Given the description of an element on the screen output the (x, y) to click on. 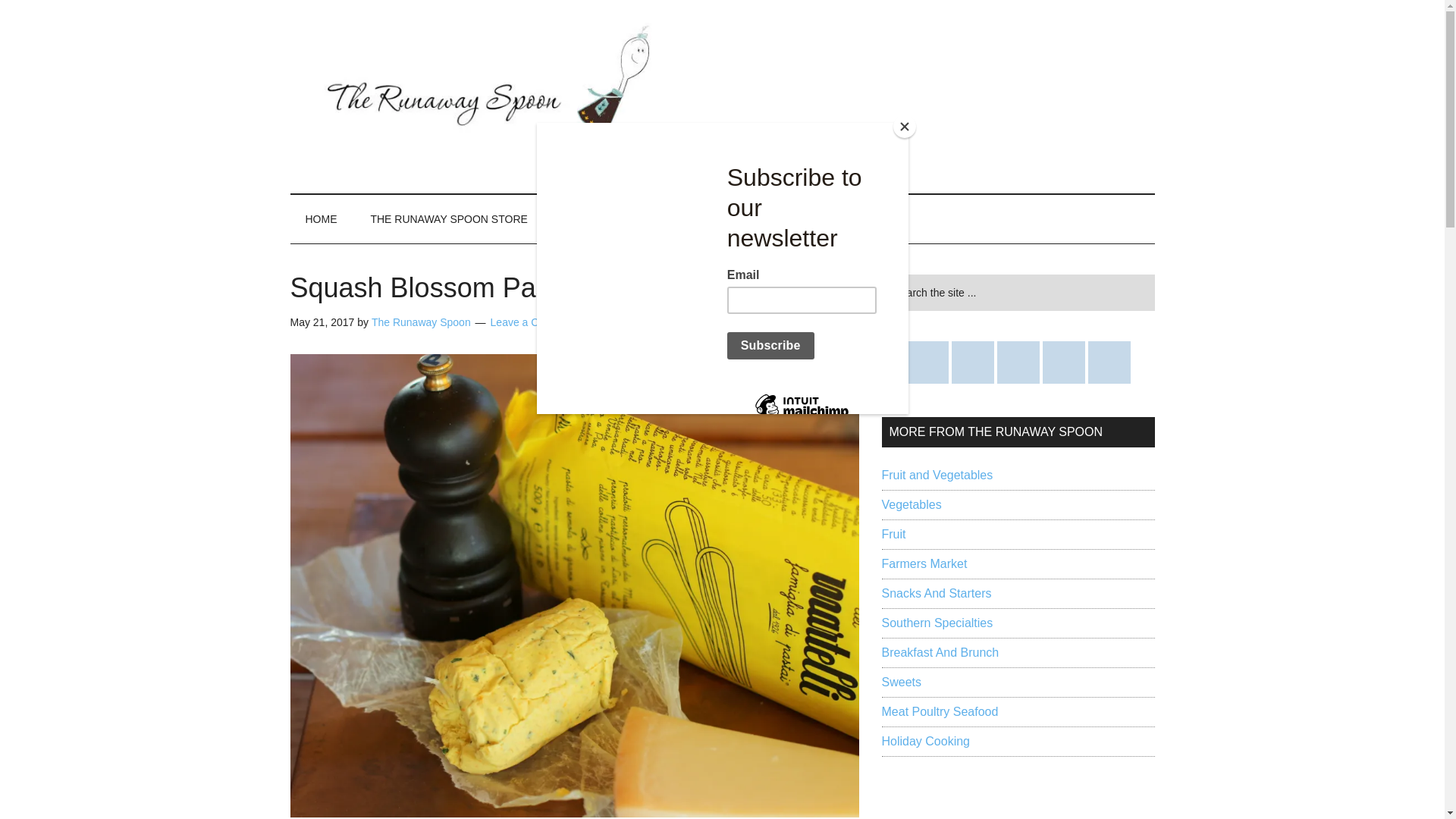
Farmers Market (923, 563)
CONTACT US (595, 218)
The Runaway Spoon (420, 322)
Leave a Comment (533, 322)
Fruit (892, 533)
Vegetables (910, 504)
HOME (320, 218)
Fruit and Vegetables (936, 474)
Southern Specialties (936, 622)
THE RUNAWAY SPOON STORE (448, 218)
Snacks And Starters (935, 593)
